Given the description of an element on the screen output the (x, y) to click on. 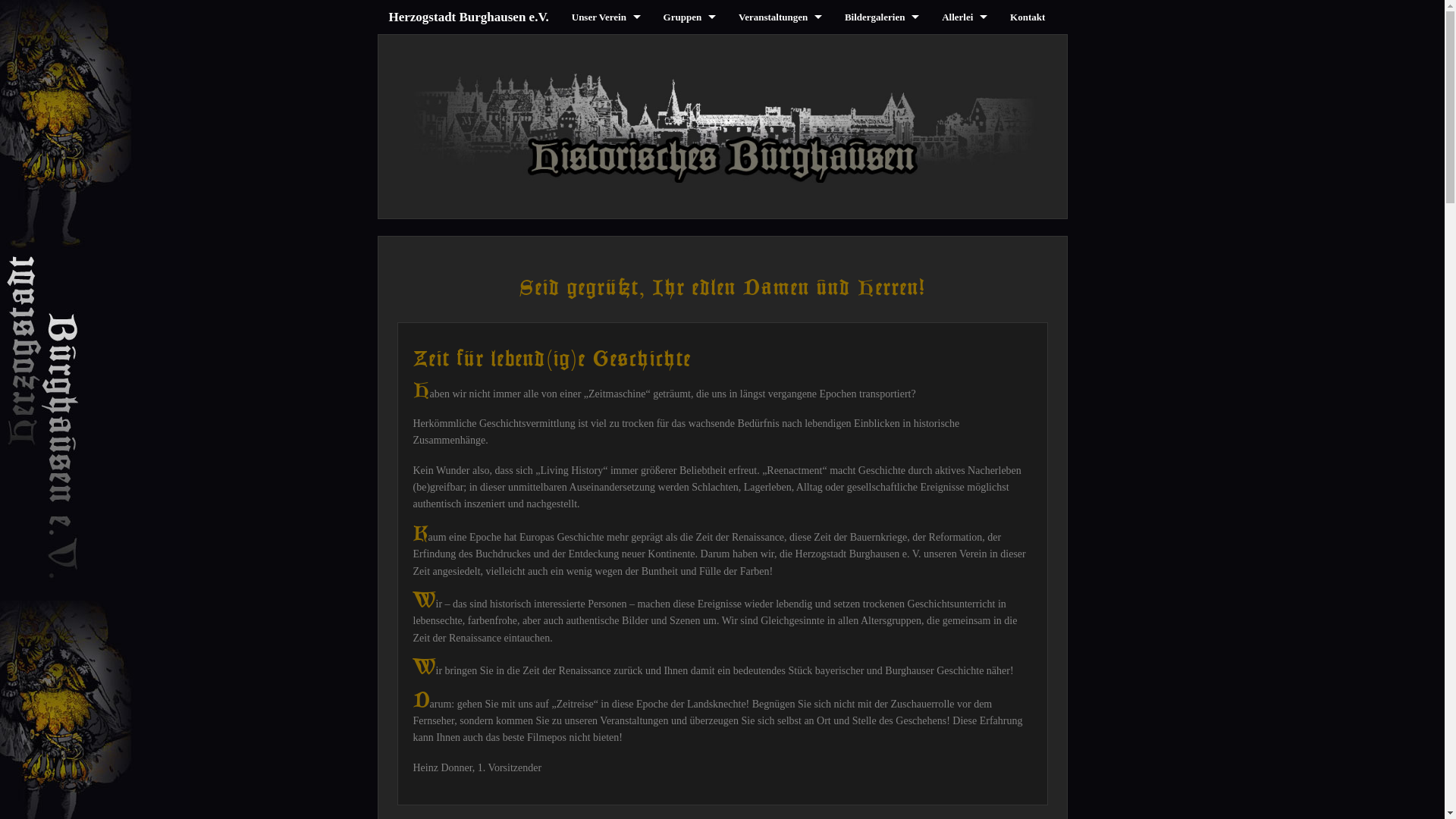
Herzogstadt Burghausen e.V. Element type: text (468, 17)
Gruppen Element type: text (689, 17)
Veranstaltungen Element type: text (780, 17)
Allerlei Element type: text (964, 17)
Unser Verein Element type: text (606, 17)
Bildergalerien Element type: text (881, 17)
Kontakt Element type: text (1027, 17)
